Given the description of an element on the screen output the (x, y) to click on. 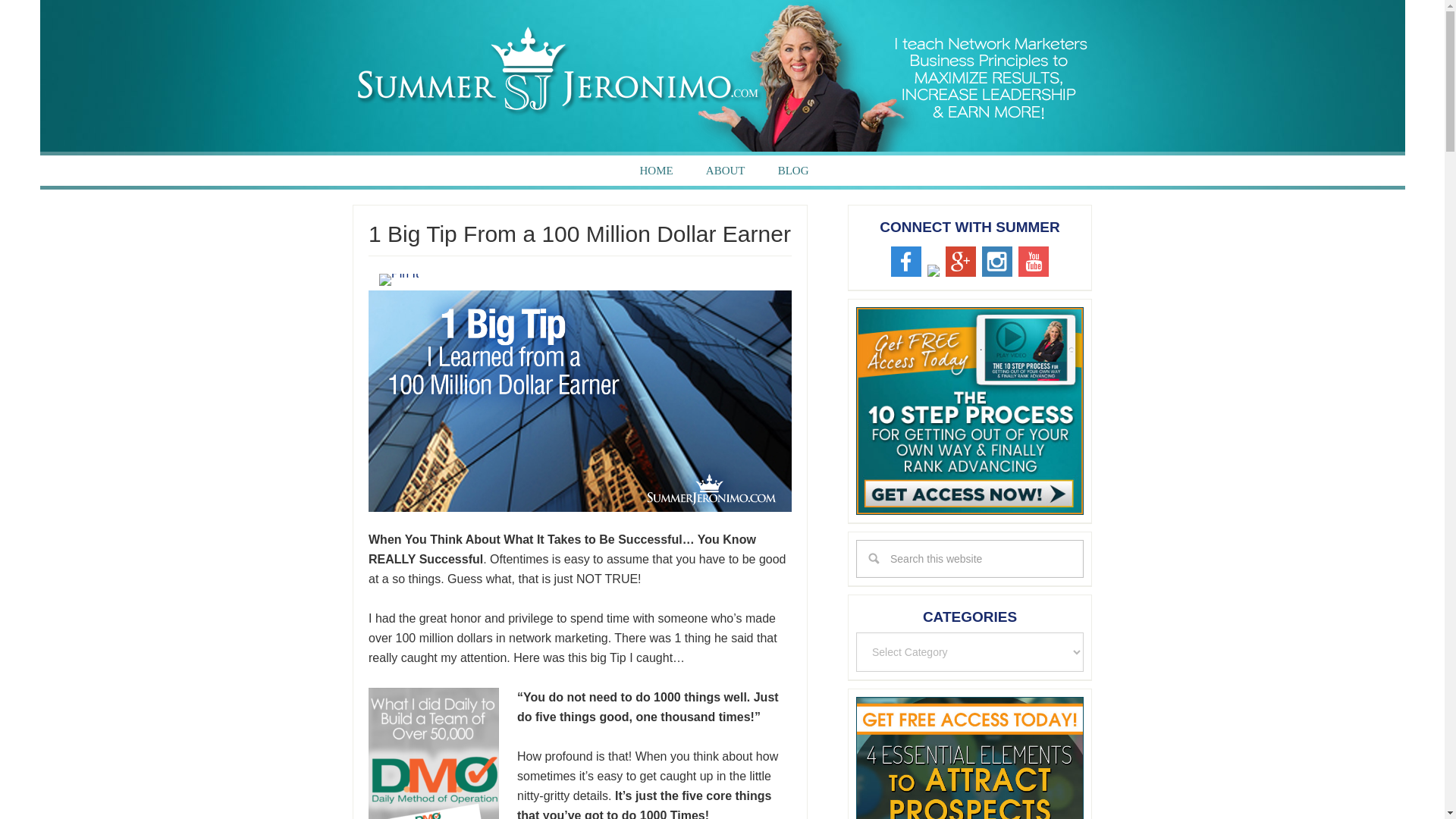
ABOUT (724, 170)
HOME (655, 170)
BLOG (793, 170)
Pin It (398, 279)
Summer Jeronimo (722, 75)
